Given the description of an element on the screen output the (x, y) to click on. 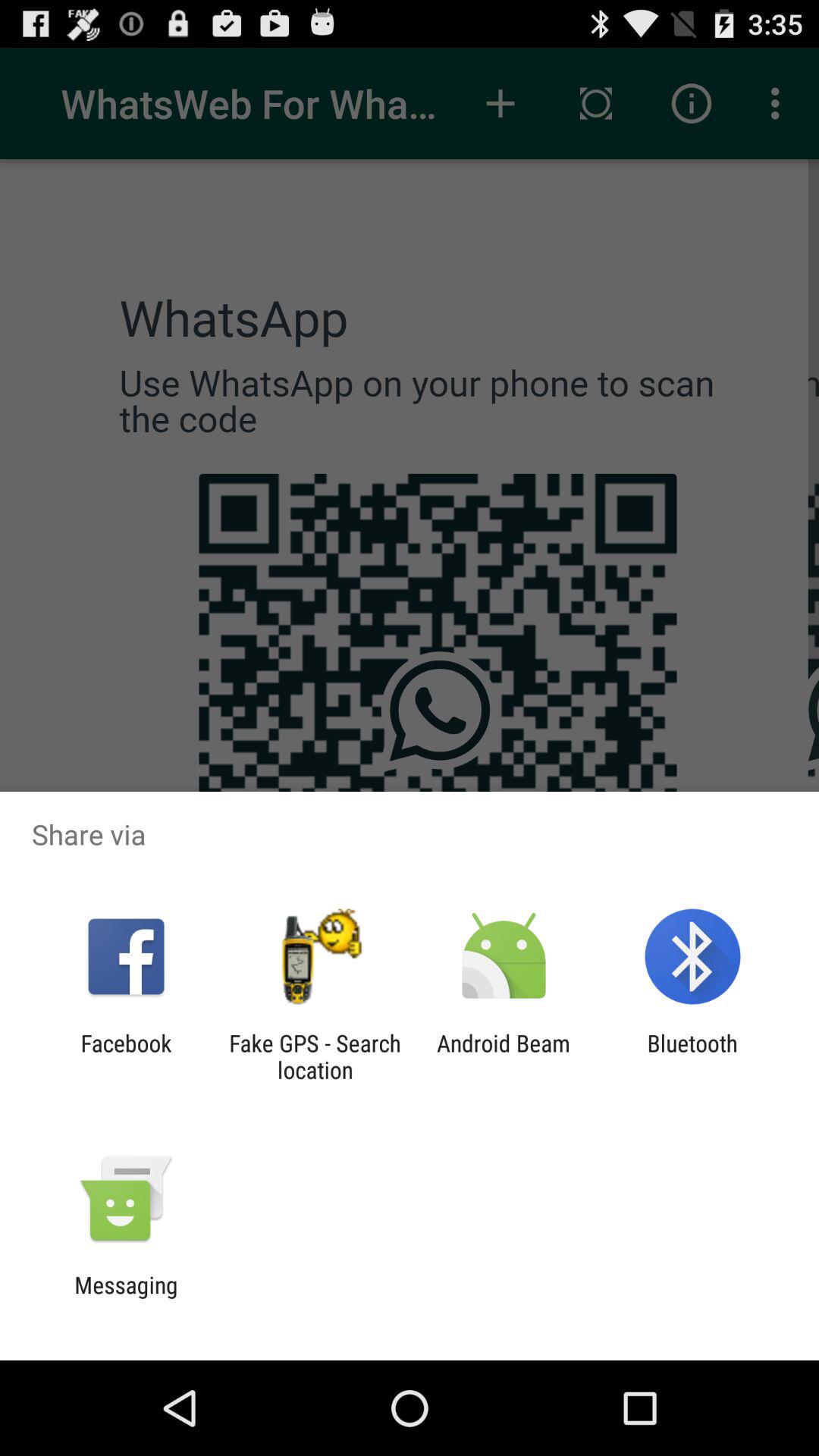
tap icon next to android beam (314, 1056)
